Given the description of an element on the screen output the (x, y) to click on. 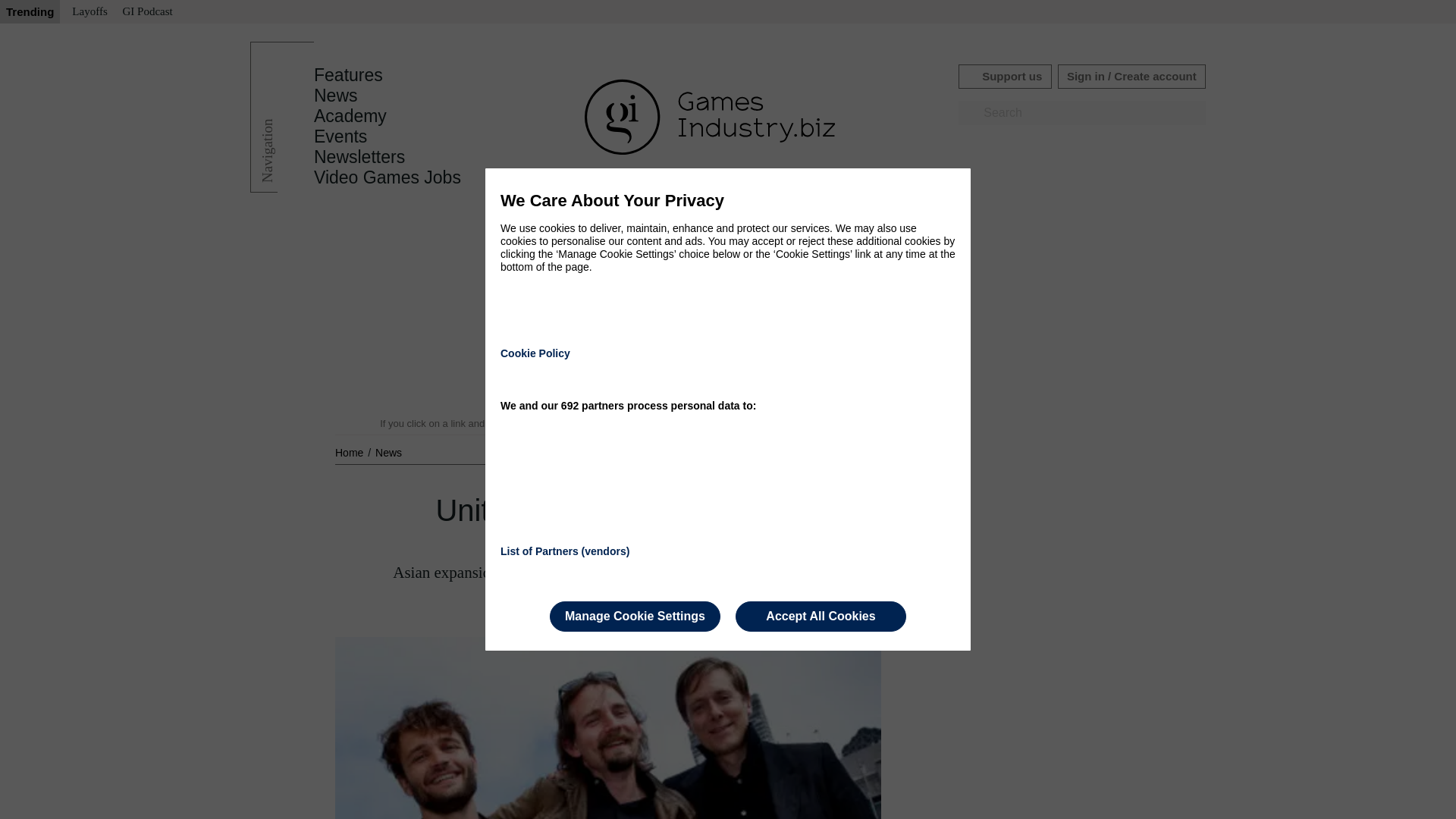
Home (350, 452)
GI Podcast (146, 11)
News (336, 95)
Layoffs (89, 11)
News (388, 452)
News (388, 452)
Newsletters (359, 157)
Video Games Jobs (387, 177)
Features (348, 75)
Academy (350, 116)
